Given the description of an element on the screen output the (x, y) to click on. 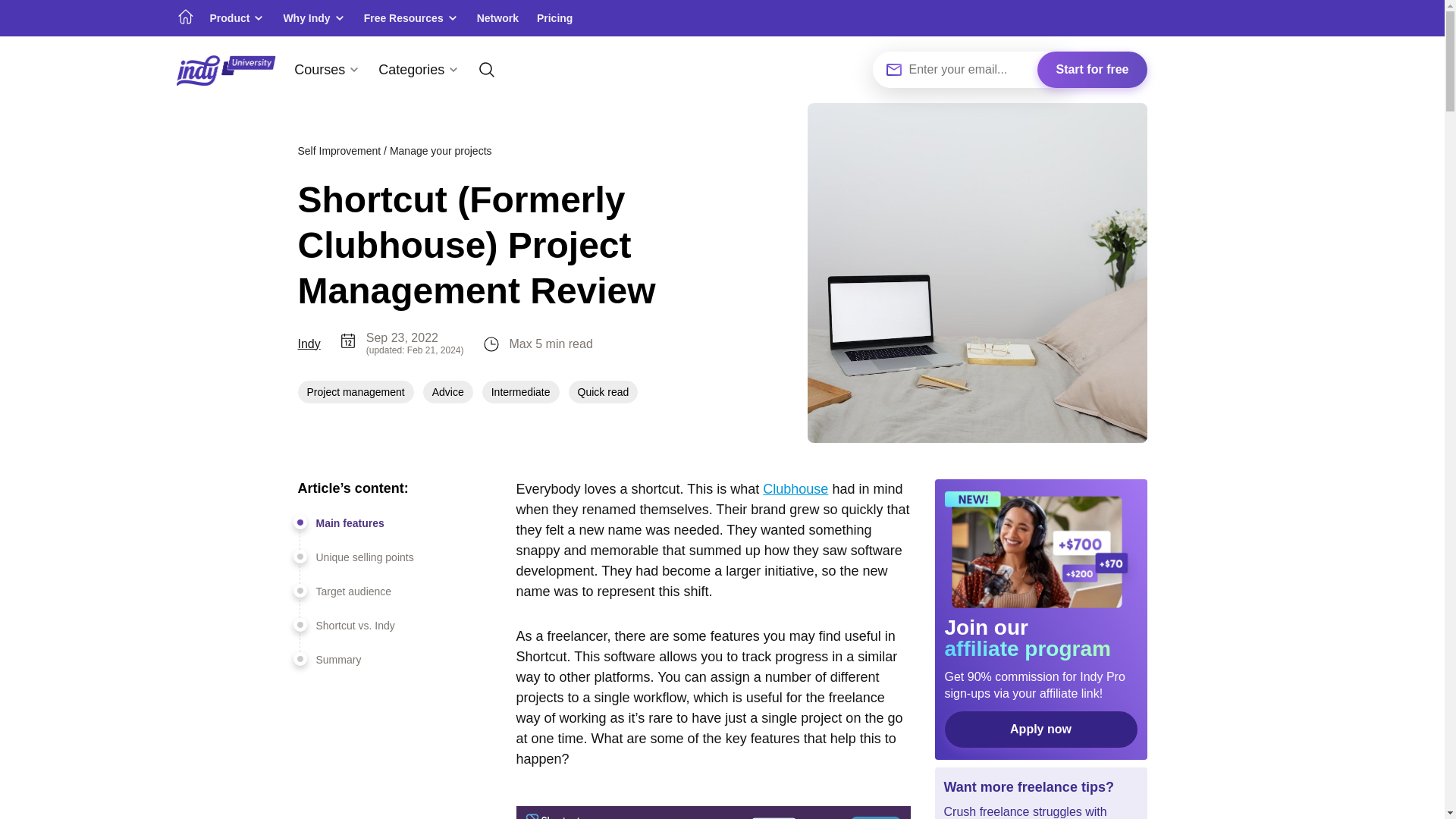
Pricing (553, 18)
Clubhouse (795, 488)
Network (497, 18)
Project management (355, 391)
Self Improvement (338, 150)
Apply now (1040, 729)
Manage your projects (441, 150)
Intermediate (520, 391)
Start for free (1091, 69)
Indy (308, 343)
